Given the description of an element on the screen output the (x, y) to click on. 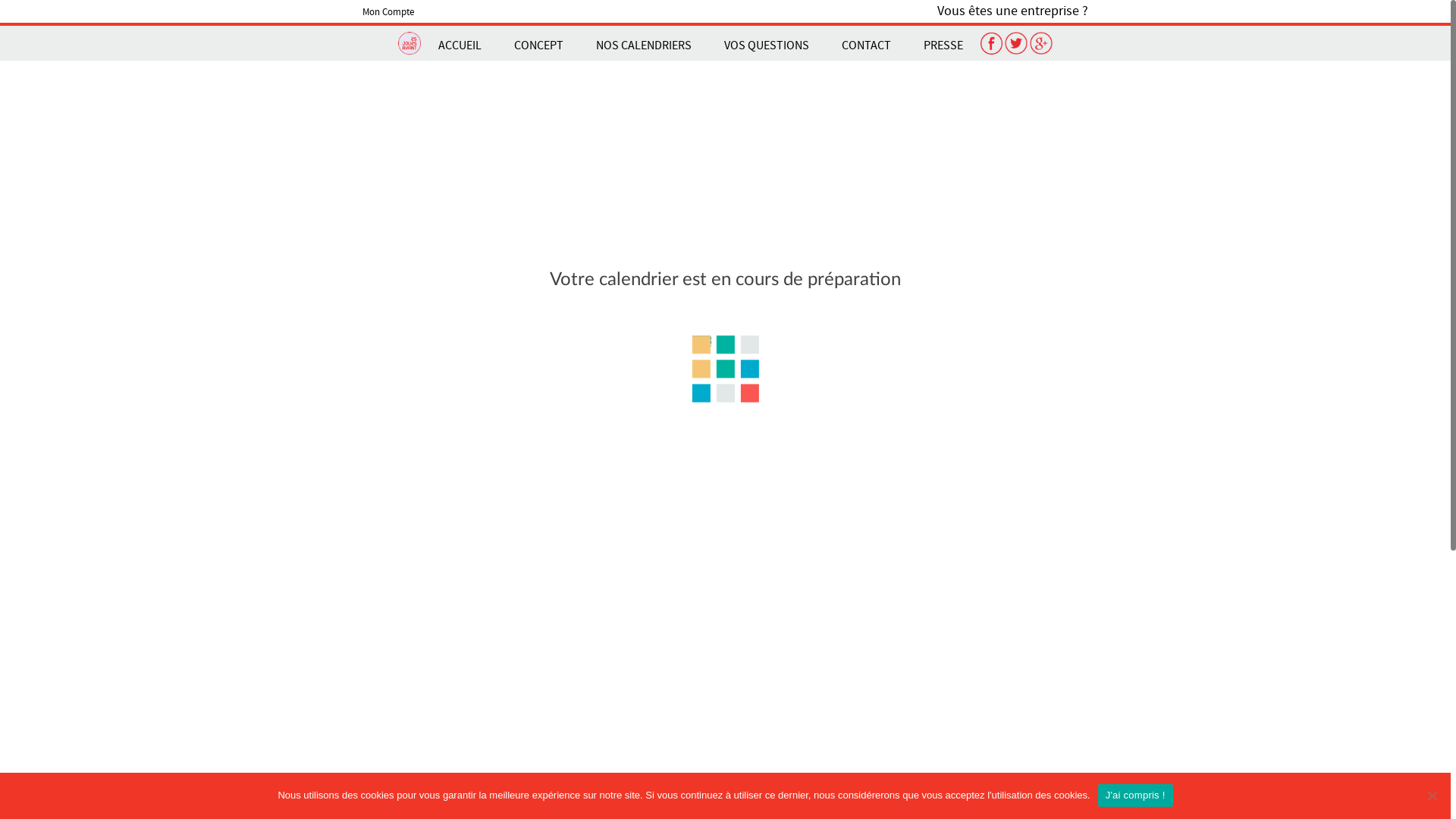
7 Jours Avant Element type: text (659, 69)
VOS QUESTIONS Element type: text (766, 45)
CONCEPT Element type: text (538, 45)
Accueil Element type: text (591, 69)
PRESSE Element type: text (943, 45)
CONTACT Element type: text (866, 45)
J'ai compris ! Element type: text (1135, 795)
ACCUEIL Element type: text (459, 45)
NOS CALENDRIERS Element type: text (643, 45)
Mon Compte Element type: text (388, 12)
